Given the description of an element on the screen output the (x, y) to click on. 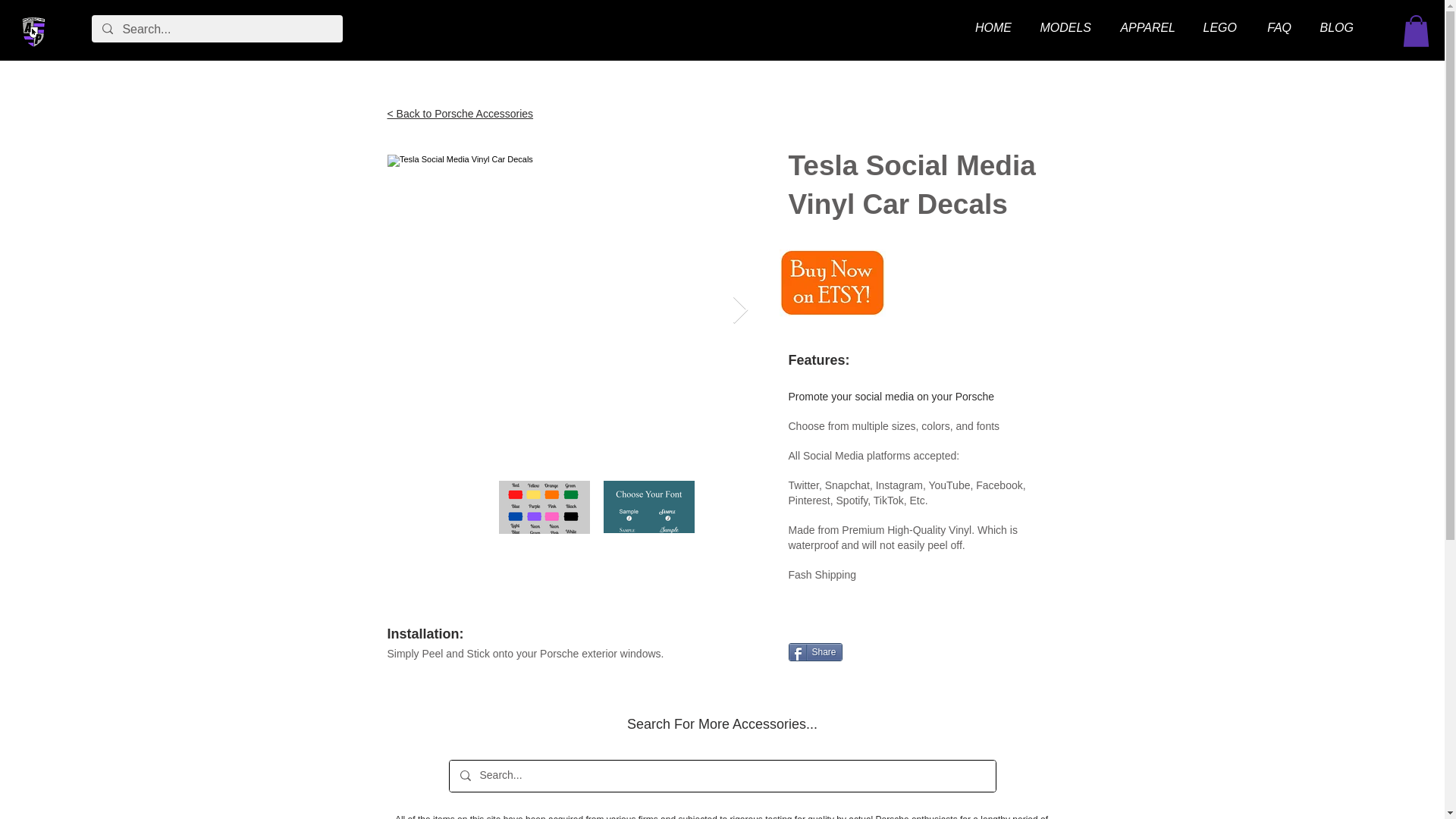
HOME (989, 27)
Share (816, 651)
MODELS (1062, 27)
FAQ (1275, 27)
BLOG (1334, 27)
LEGO (1216, 27)
APPAREL (1144, 27)
Pin to Pinterest (940, 652)
Share (816, 651)
Twitter Tweet (880, 652)
